Given the description of an element on the screen output the (x, y) to click on. 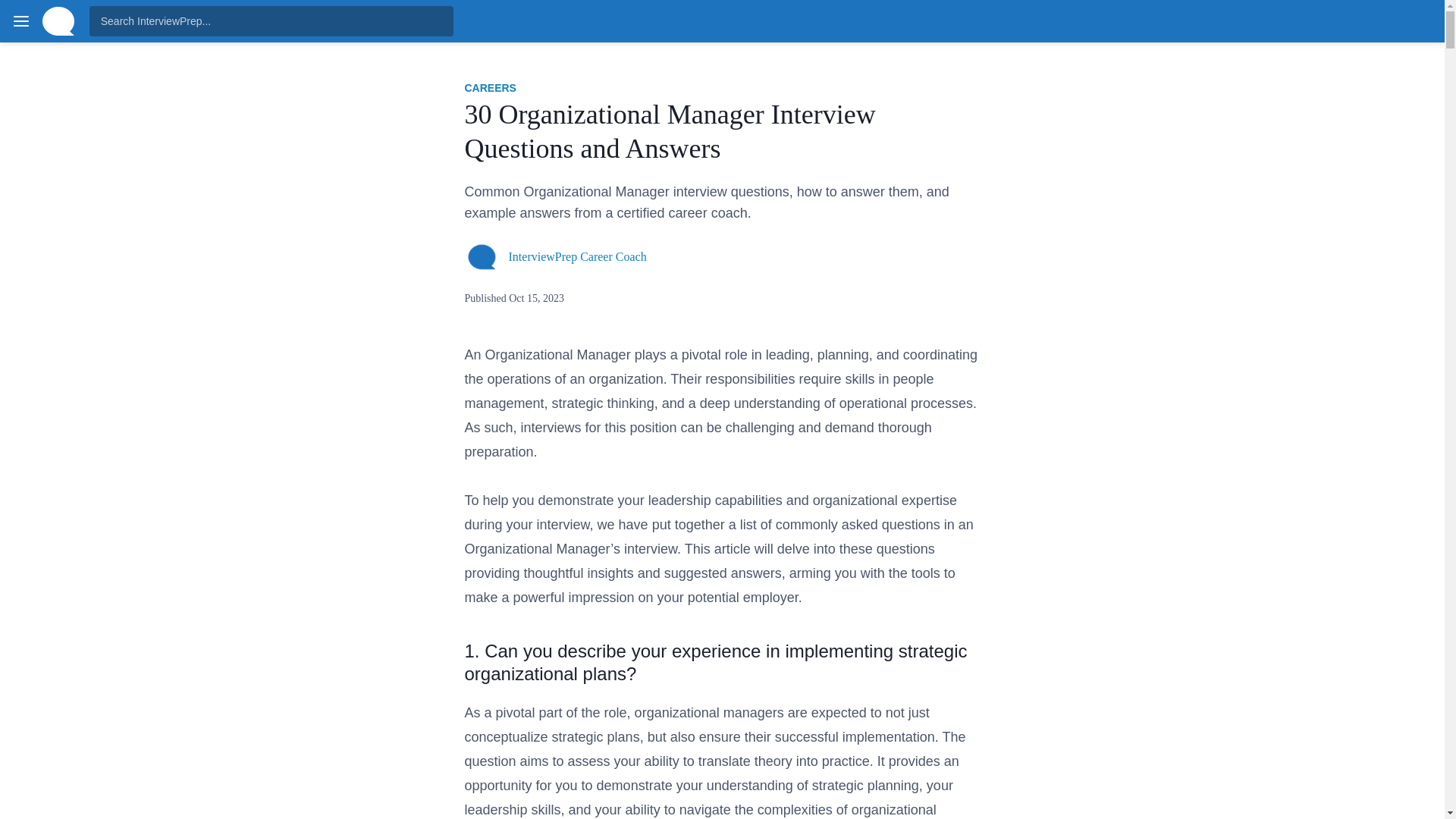
CAREERS (489, 87)
InterviewPrep Career Coach (577, 256)
